Given the description of an element on the screen output the (x, y) to click on. 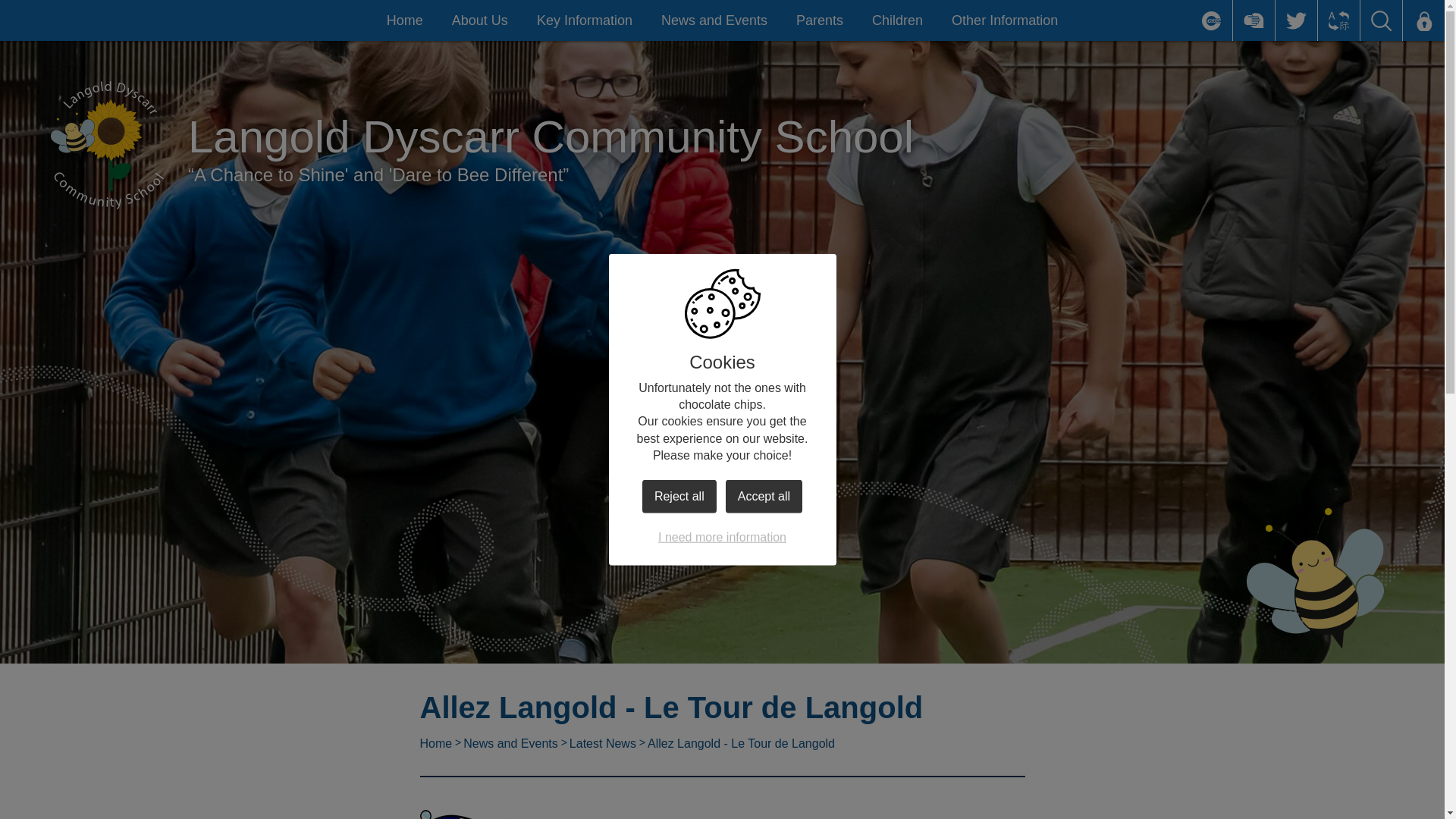
Home (405, 20)
About Us (480, 20)
Key Information (584, 20)
Home Page (106, 147)
